Given the description of an element on the screen output the (x, y) to click on. 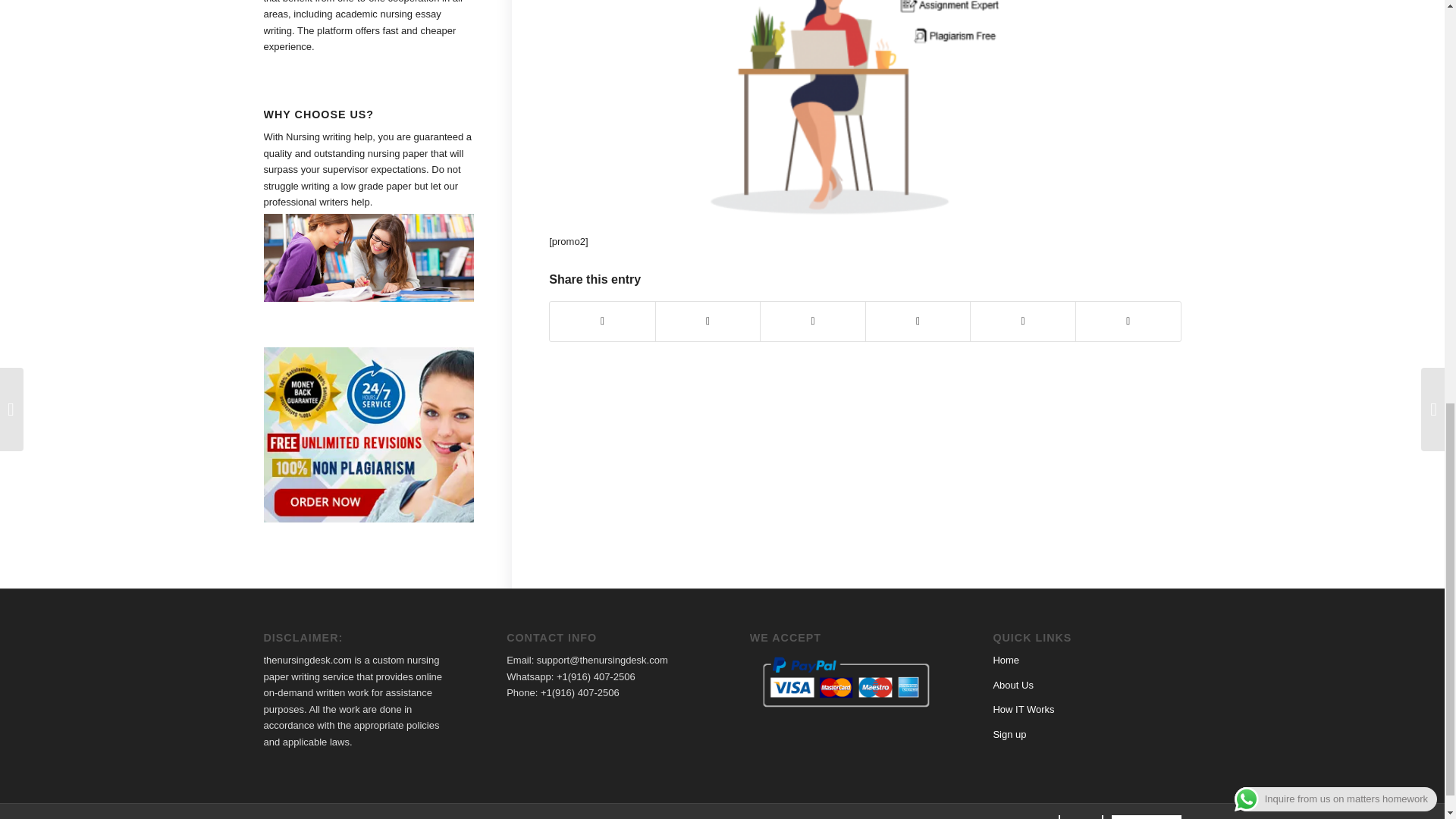
Home (1005, 659)
LOG IN (1080, 814)
How IT Works (1023, 708)
Sign up (1009, 734)
About Us (1012, 685)
ORDER NOW (1146, 814)
